Given the description of an element on the screen output the (x, y) to click on. 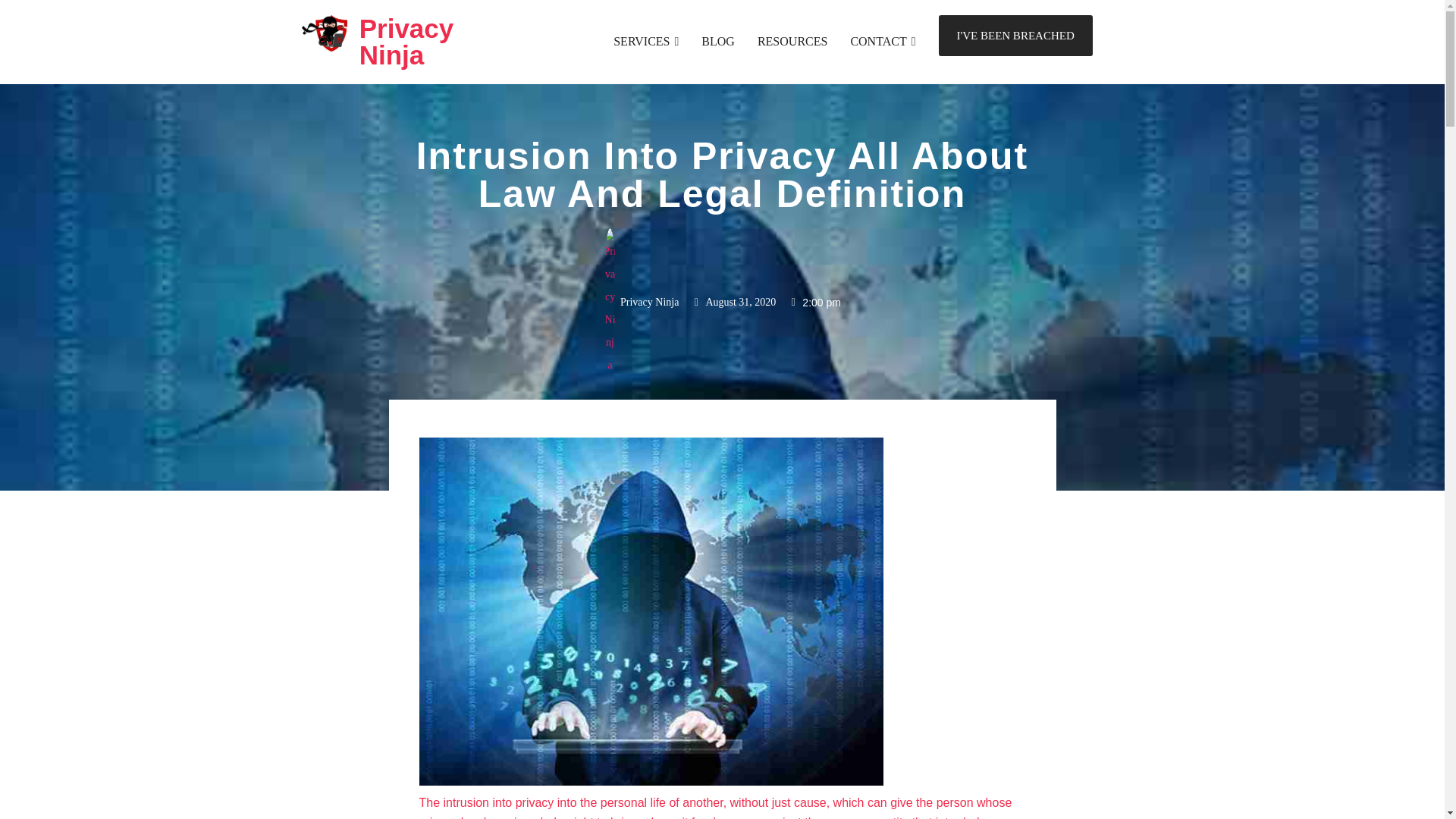
CONTACT (883, 41)
RESOURCES (791, 41)
SERVICES (645, 41)
I'VE BEEN BREACHED (1016, 35)
August 31, 2020 (733, 302)
Privacy Ninja (641, 302)
BLOG (718, 41)
